Given the description of an element on the screen output the (x, y) to click on. 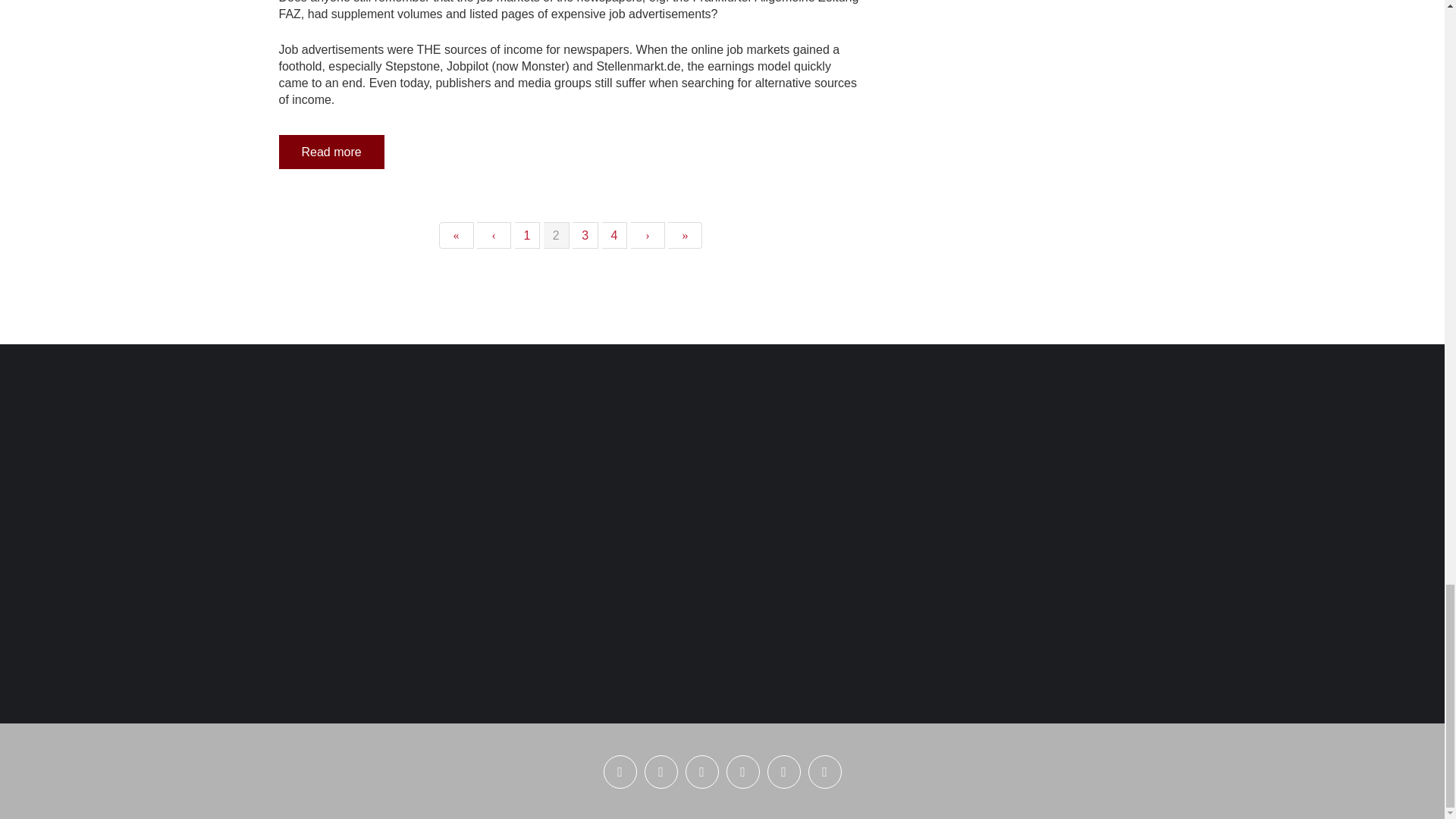
Facebook (743, 771)
Read more (331, 151)
Xing (620, 771)
LinkedIn (661, 771)
1 (526, 234)
2 (556, 234)
4 (614, 234)
Instagram (702, 771)
senden (824, 771)
3 (585, 234)
